Given the description of an element on the screen output the (x, y) to click on. 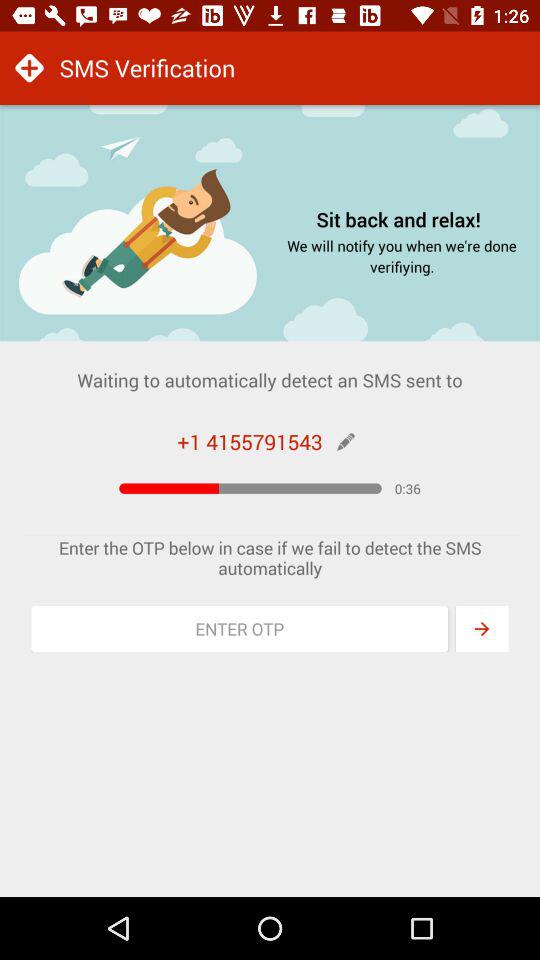
confirm one time password (482, 629)
